Given the description of an element on the screen output the (x, y) to click on. 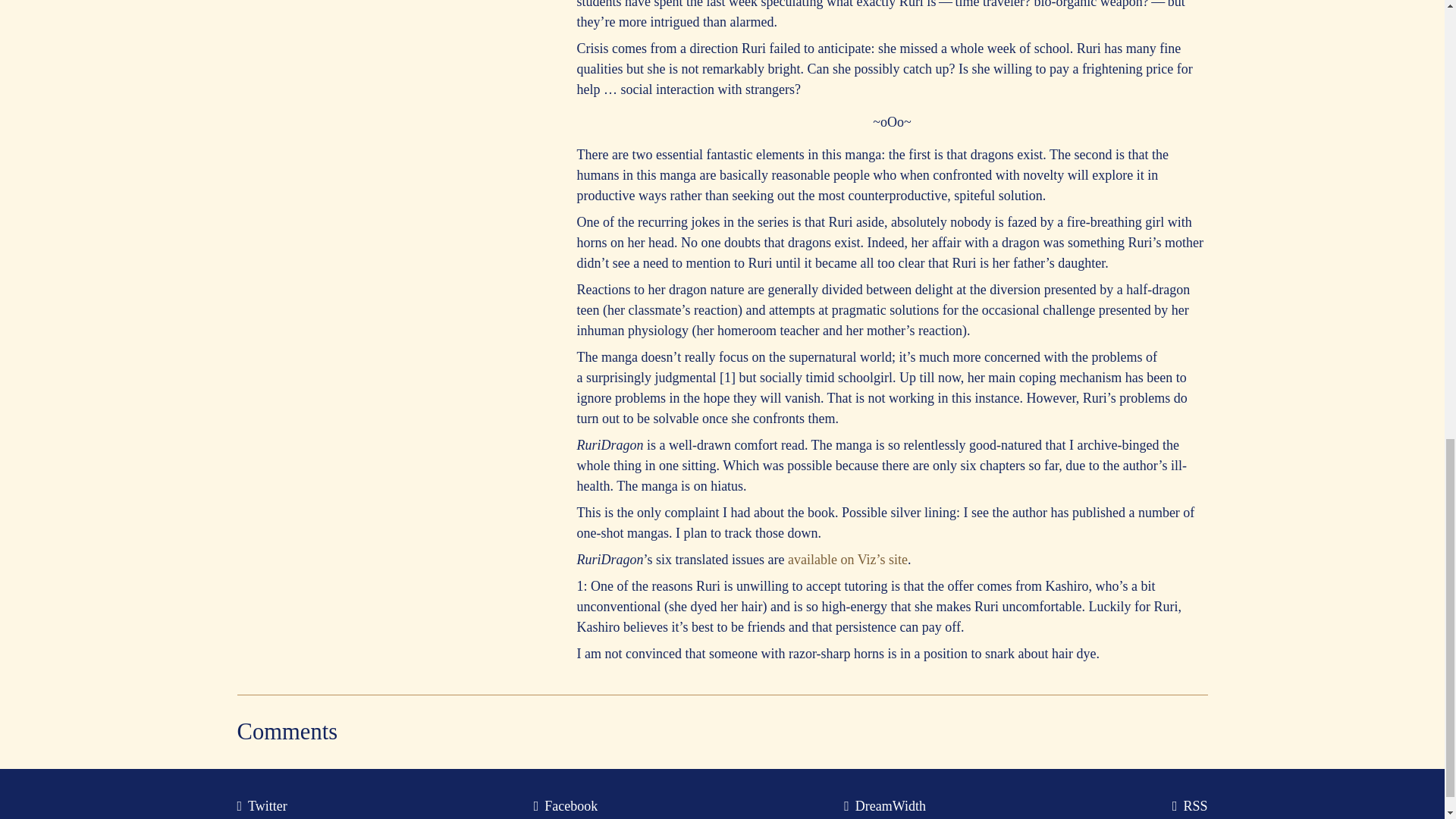
Facebook (567, 806)
RSS (1191, 806)
Twitter (263, 806)
DreamWidth (887, 806)
